Given the description of an element on the screen output the (x, y) to click on. 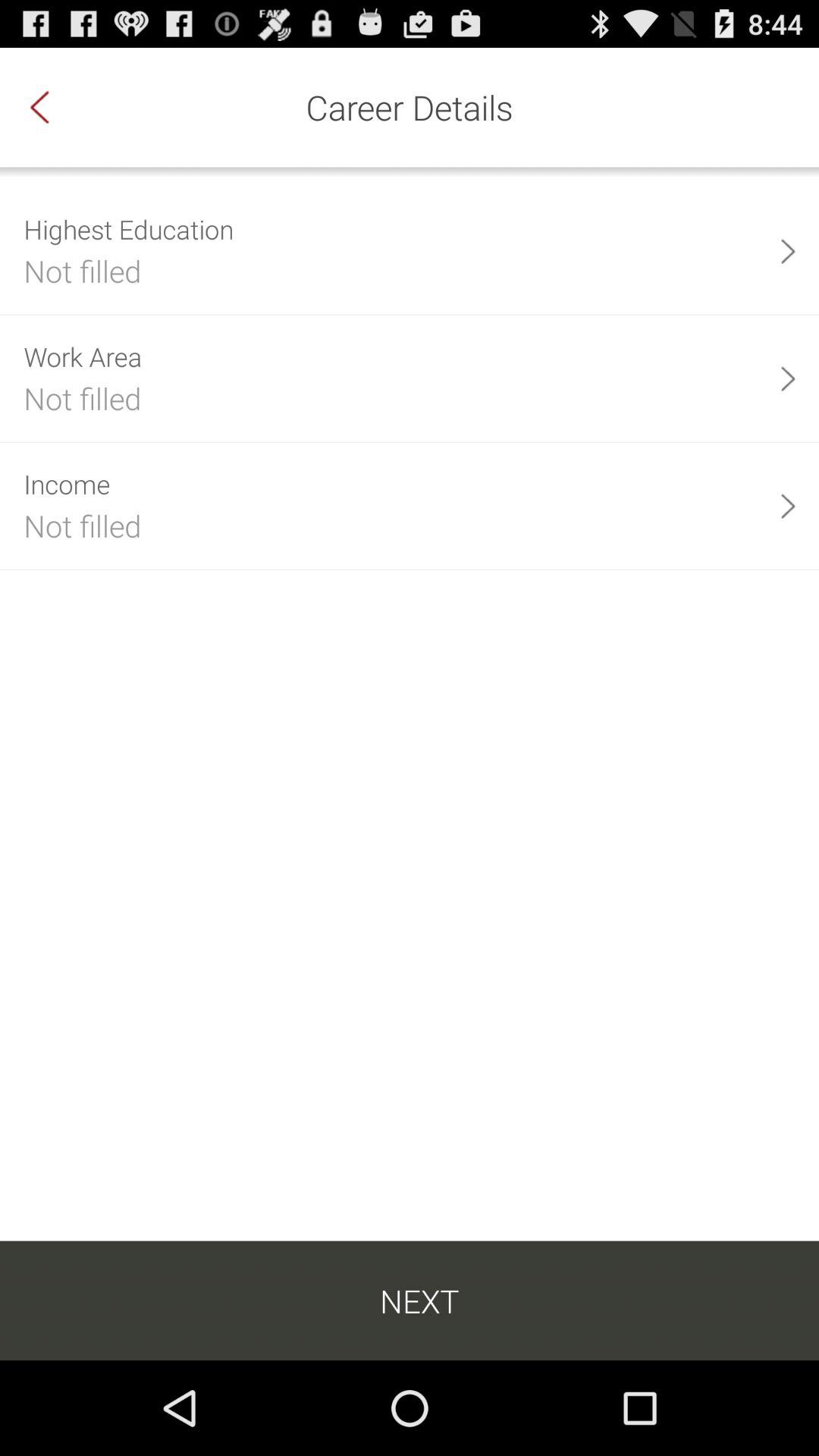
launch icon to the left of career details item (55, 107)
